Given the description of an element on the screen output the (x, y) to click on. 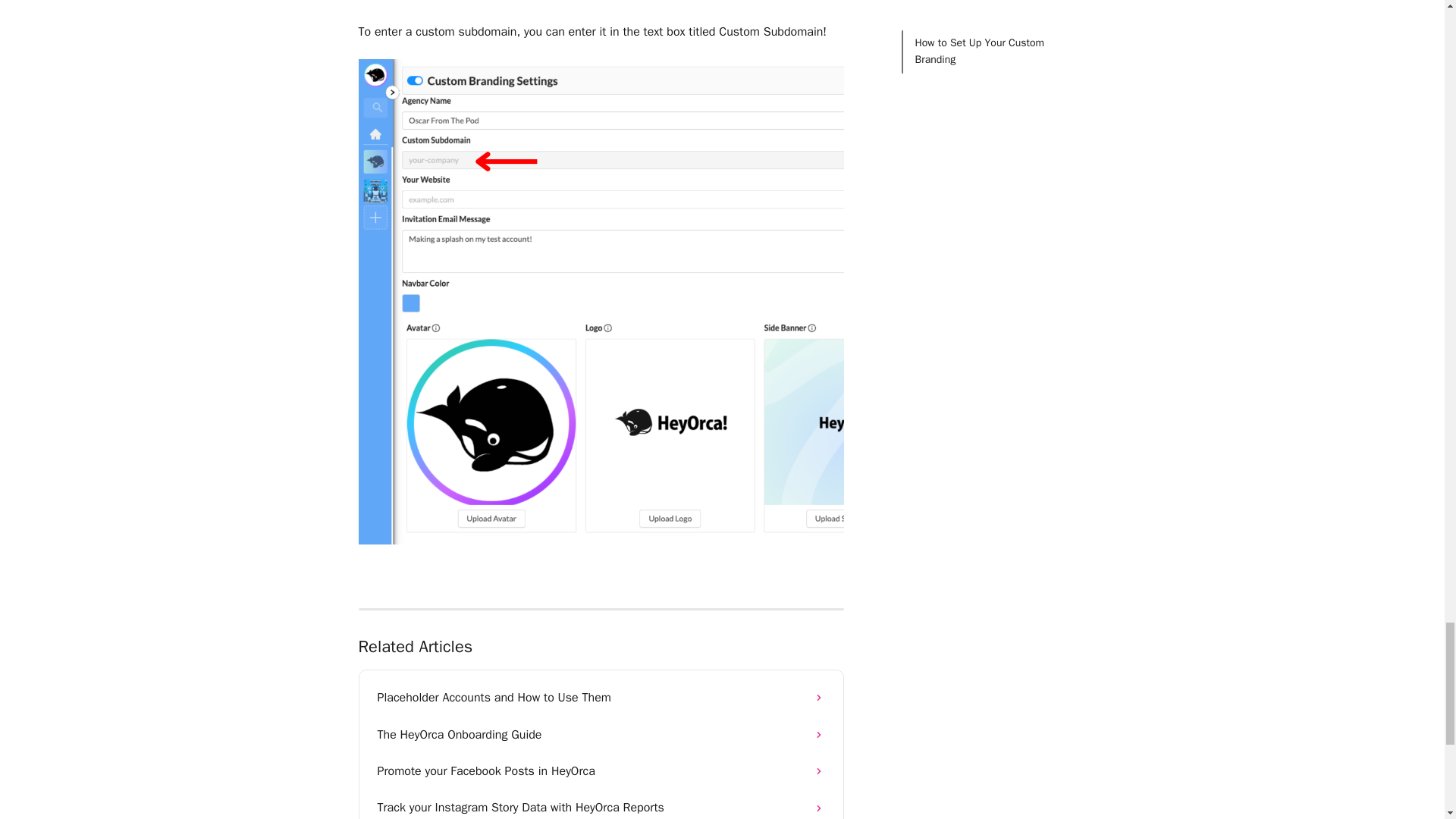
Track your Instagram Story Data with HeyOrca Reports (601, 804)
The HeyOrca Onboarding Guide (601, 733)
Placeholder Accounts and How to Use Them (601, 697)
Promote your Facebook Posts in HeyOrca (601, 770)
